Given the description of an element on the screen output the (x, y) to click on. 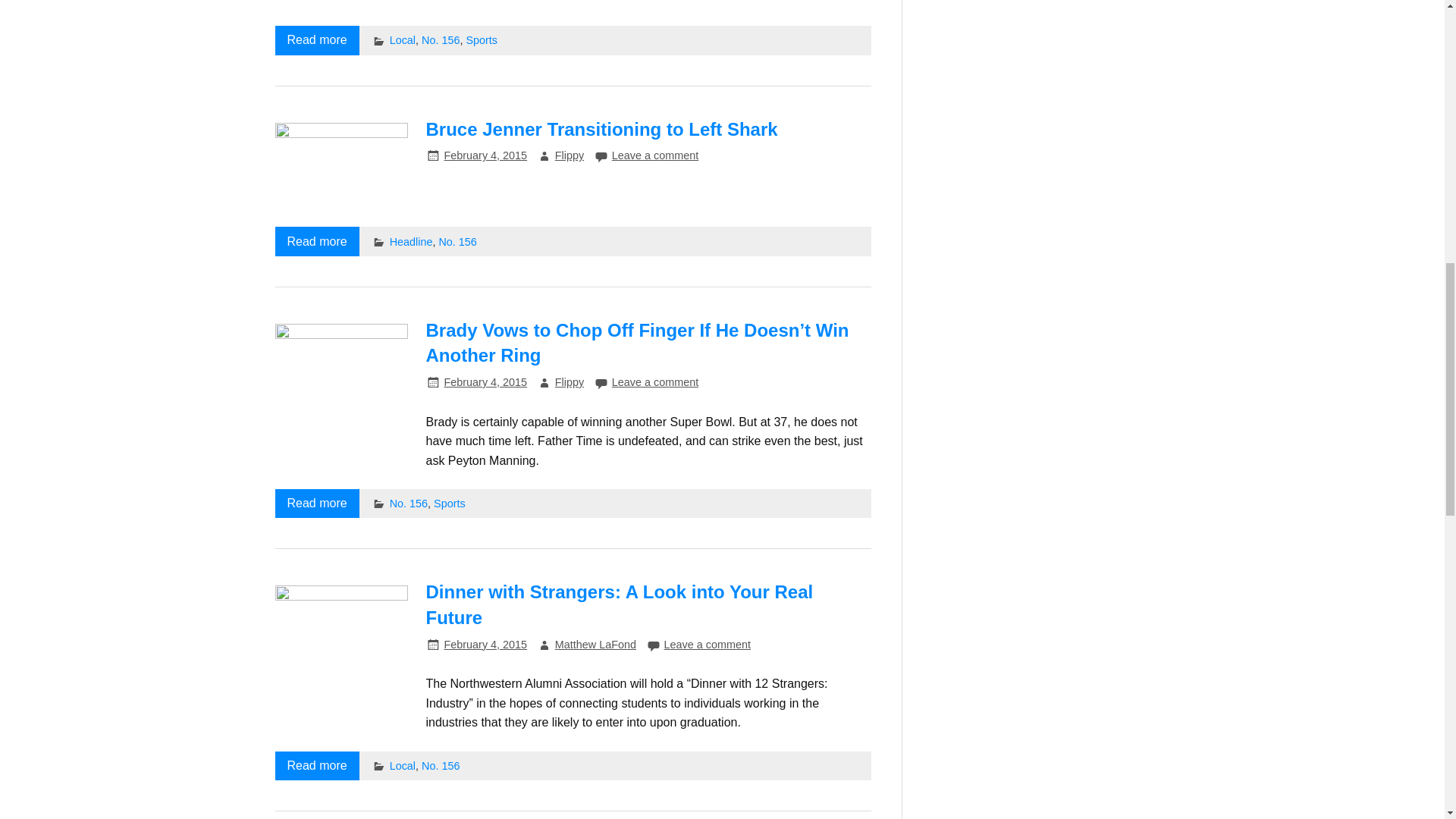
Read more (316, 39)
Local (402, 39)
View all posts by Flippy (568, 381)
Sports (481, 39)
No. 156 (441, 39)
11:42 pm (485, 155)
10:00 am (485, 644)
2:00 pm (485, 381)
View all posts by Flippy (568, 155)
View all posts by Matthew LaFond (595, 644)
